Given the description of an element on the screen output the (x, y) to click on. 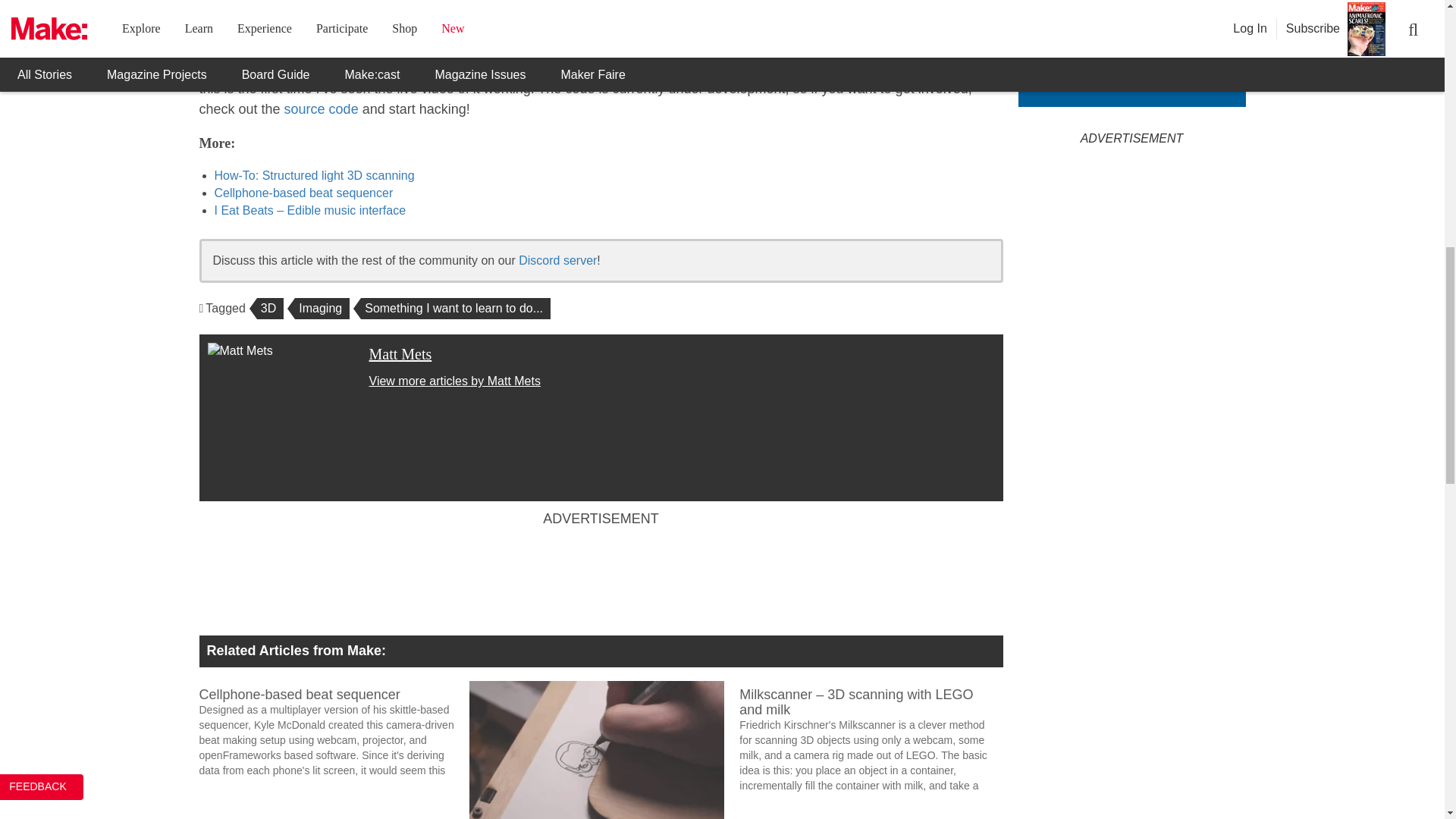
3rd party ad content (600, 576)
Cellphone-based beat sequencer (333, 729)
Blind Self Portrait Machine (595, 749)
Cellphone-based beat sequencer (325, 690)
